Given the description of an element on the screen output the (x, y) to click on. 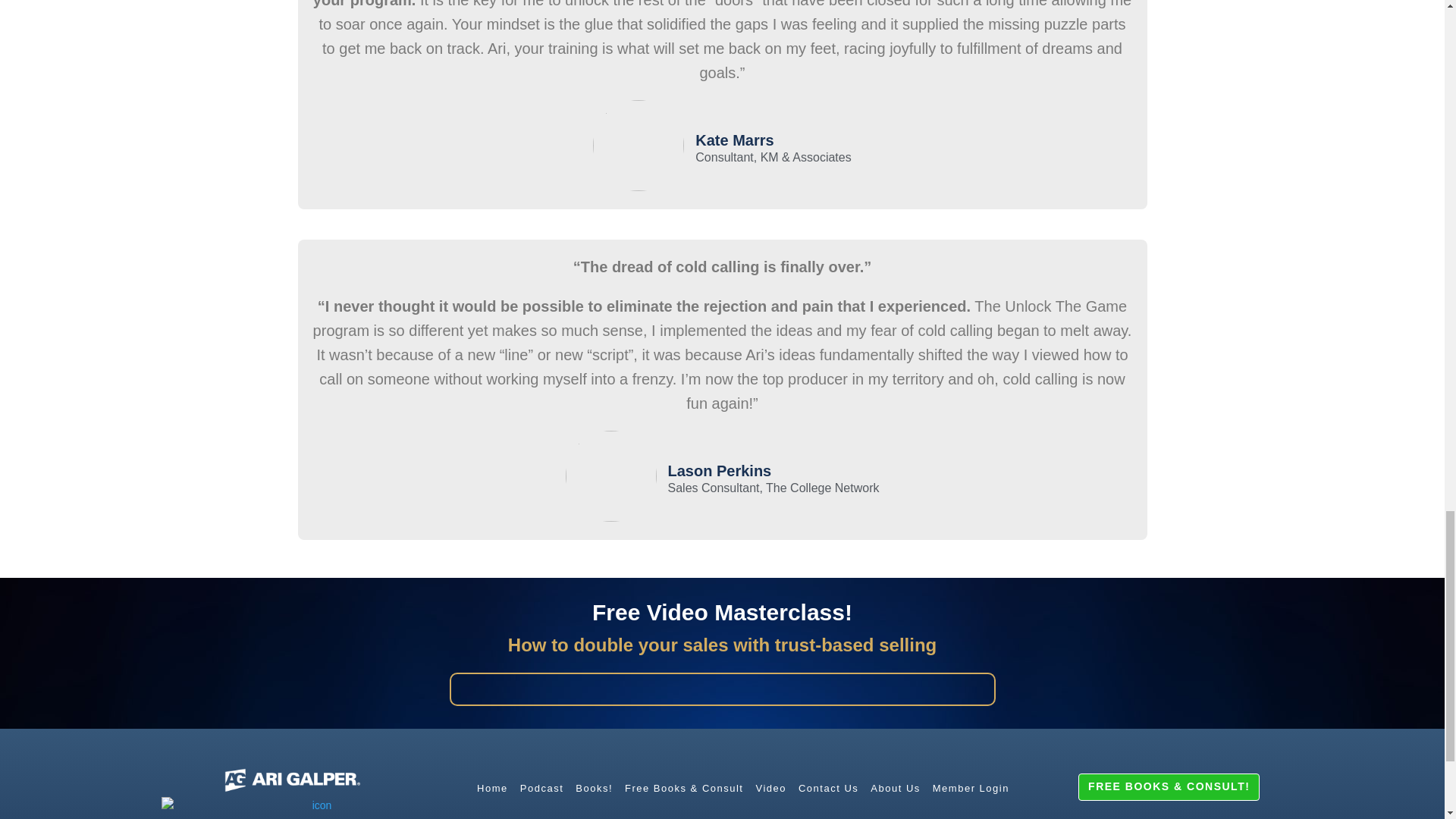
Home (491, 788)
Books! (593, 788)
Podcast (541, 788)
